Given the description of an element on the screen output the (x, y) to click on. 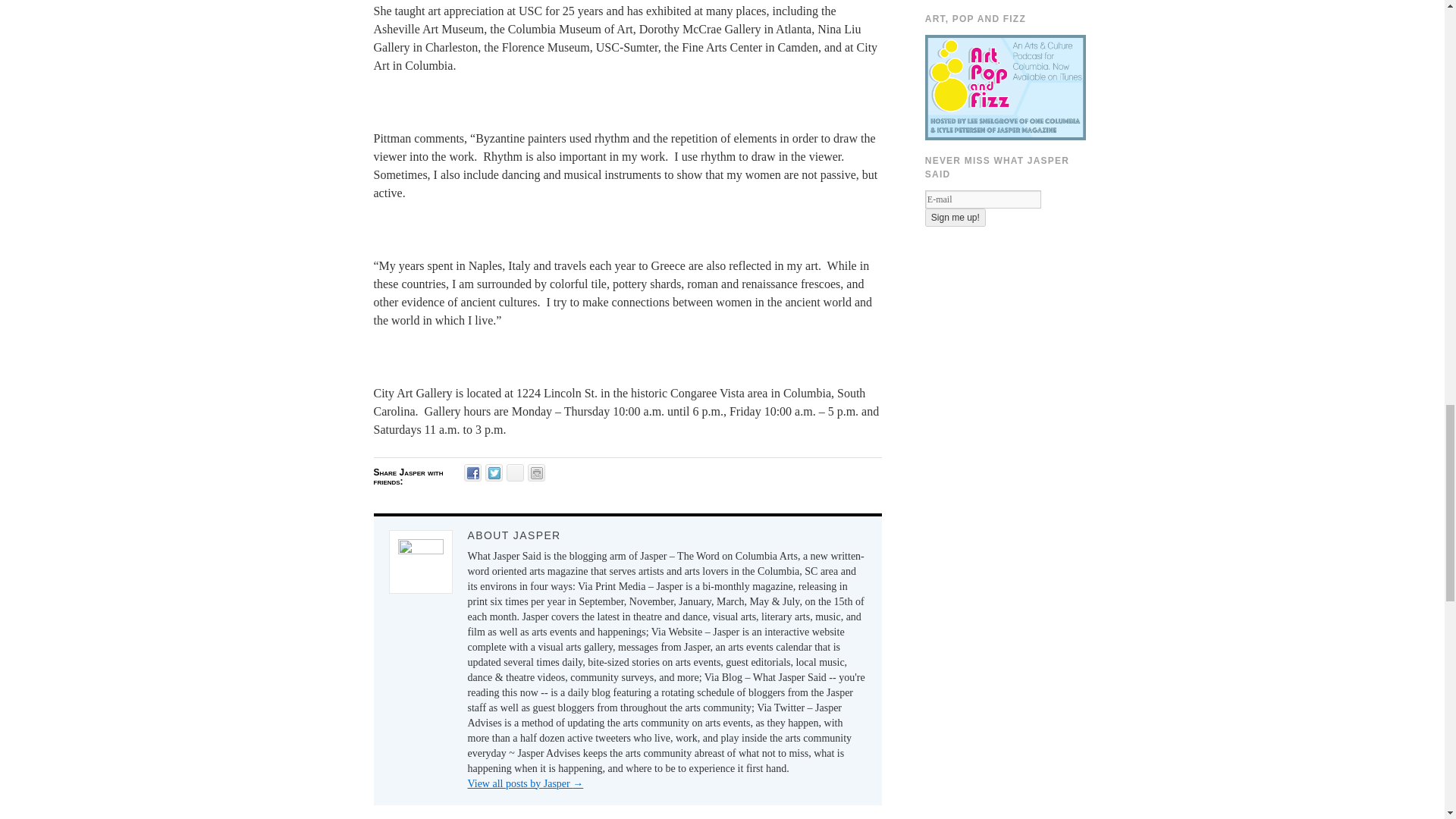
Share on Facebook (472, 472)
Click to share on Twitter (493, 472)
Click to email this to a friend (515, 472)
E-mail (982, 199)
Click to print (535, 472)
Sign me up! (954, 217)
Sign me up! (954, 217)
